Given the description of an element on the screen output the (x, y) to click on. 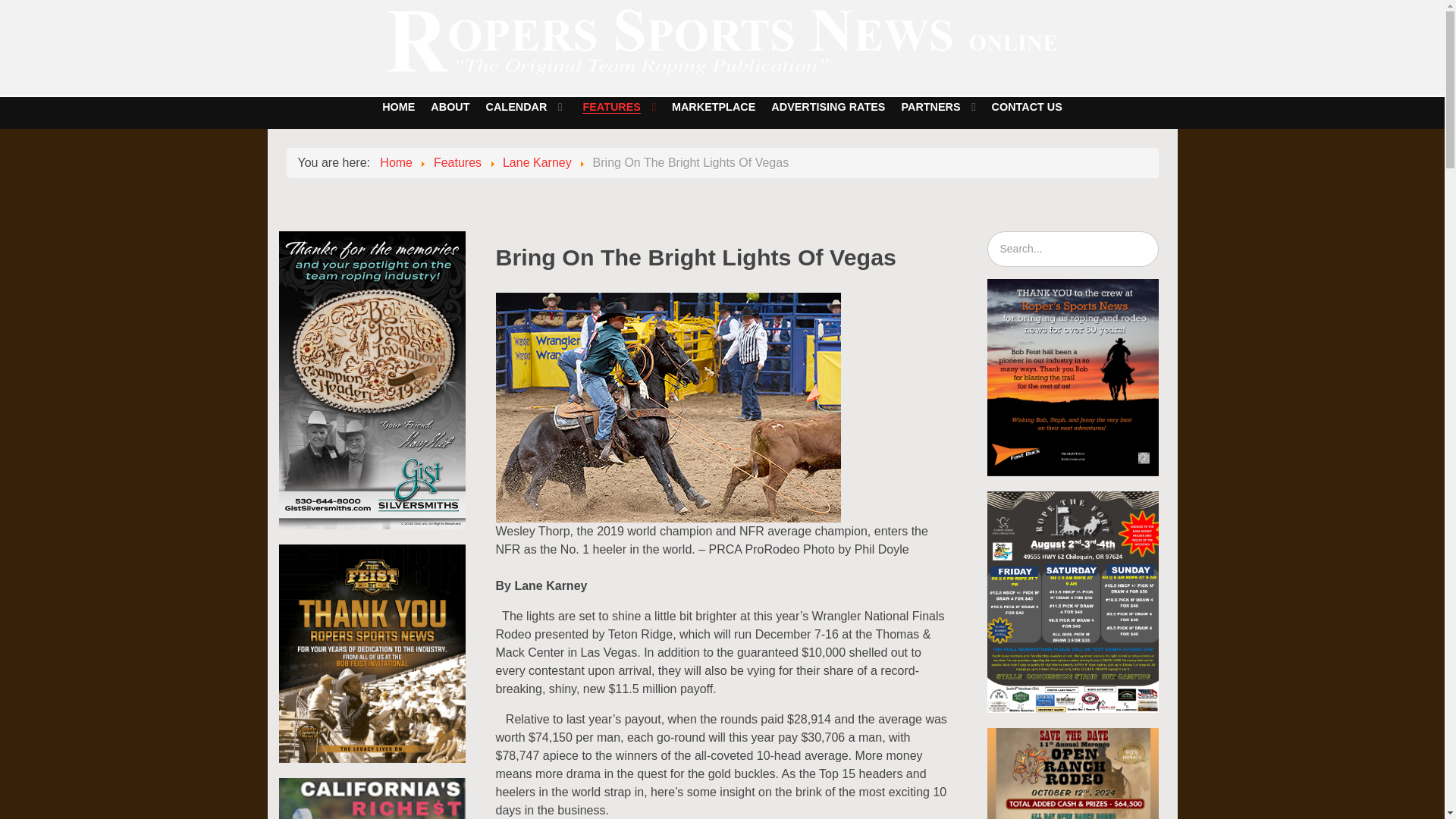
ABOUT (450, 106)
MARKETPLACE (712, 106)
CALENDAR (523, 107)
PARTNERS (938, 107)
FEATURES (619, 107)
Home (396, 162)
ADVERTISING RATES (828, 106)
HOME (398, 106)
Lane Karney (537, 162)
CONTACT US (1026, 106)
Features (457, 162)
